Given the description of an element on the screen output the (x, y) to click on. 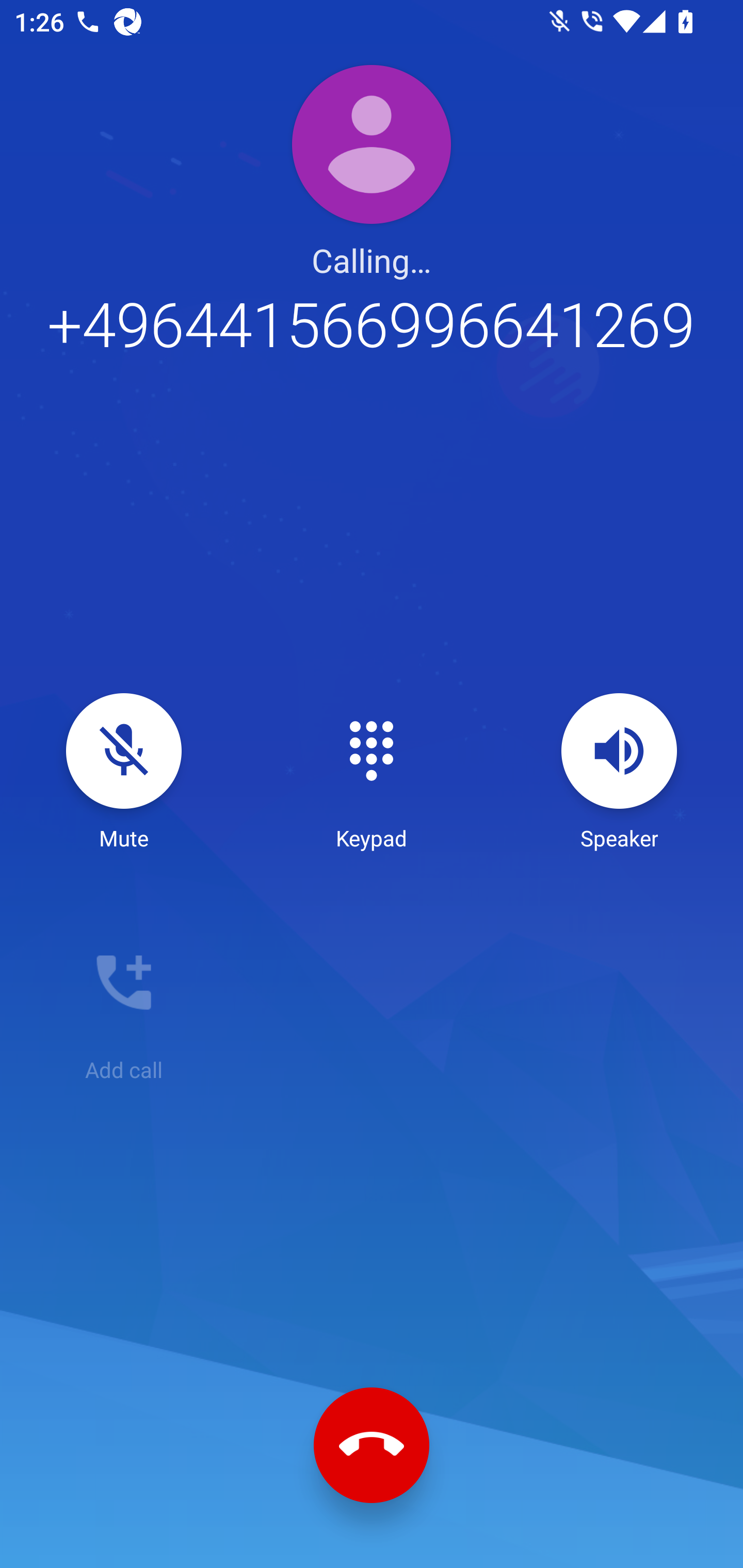
Muted Mute (123, 772)
Keypad (371, 772)
Speaker, is on Speaker (619, 772)
Add call (123, 1004)
End call (371, 1445)
